Given the description of an element on the screen output the (x, y) to click on. 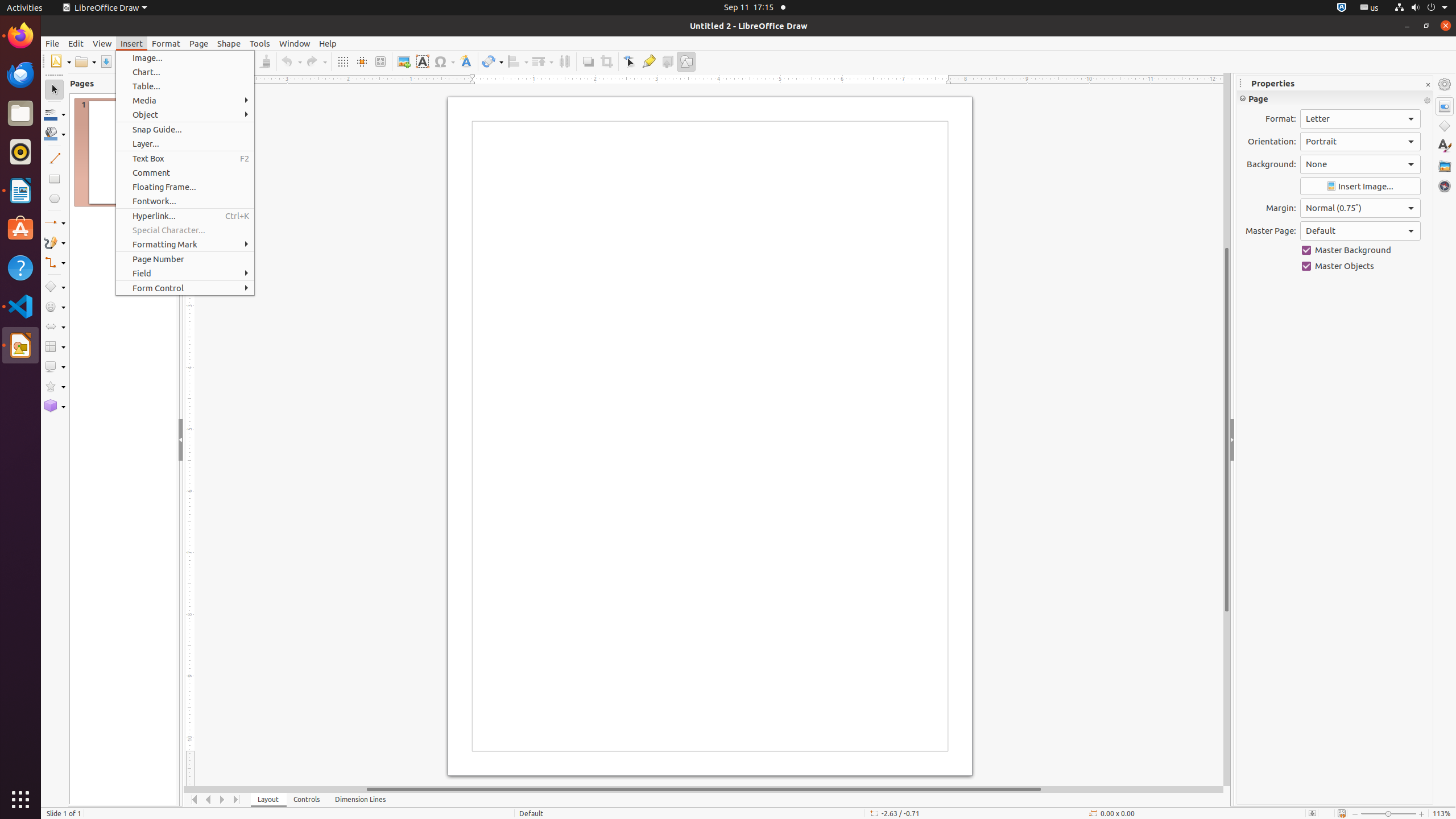
Styles Element type: radio-button (1444, 146)
Align Element type: push-button (517, 61)
Draw Functions Element type: toggle-button (685, 61)
Text Box Element type: menu-item (185, 158)
Arrow Shapes Element type: push-button (54, 326)
